Given the description of an element on the screen output the (x, y) to click on. 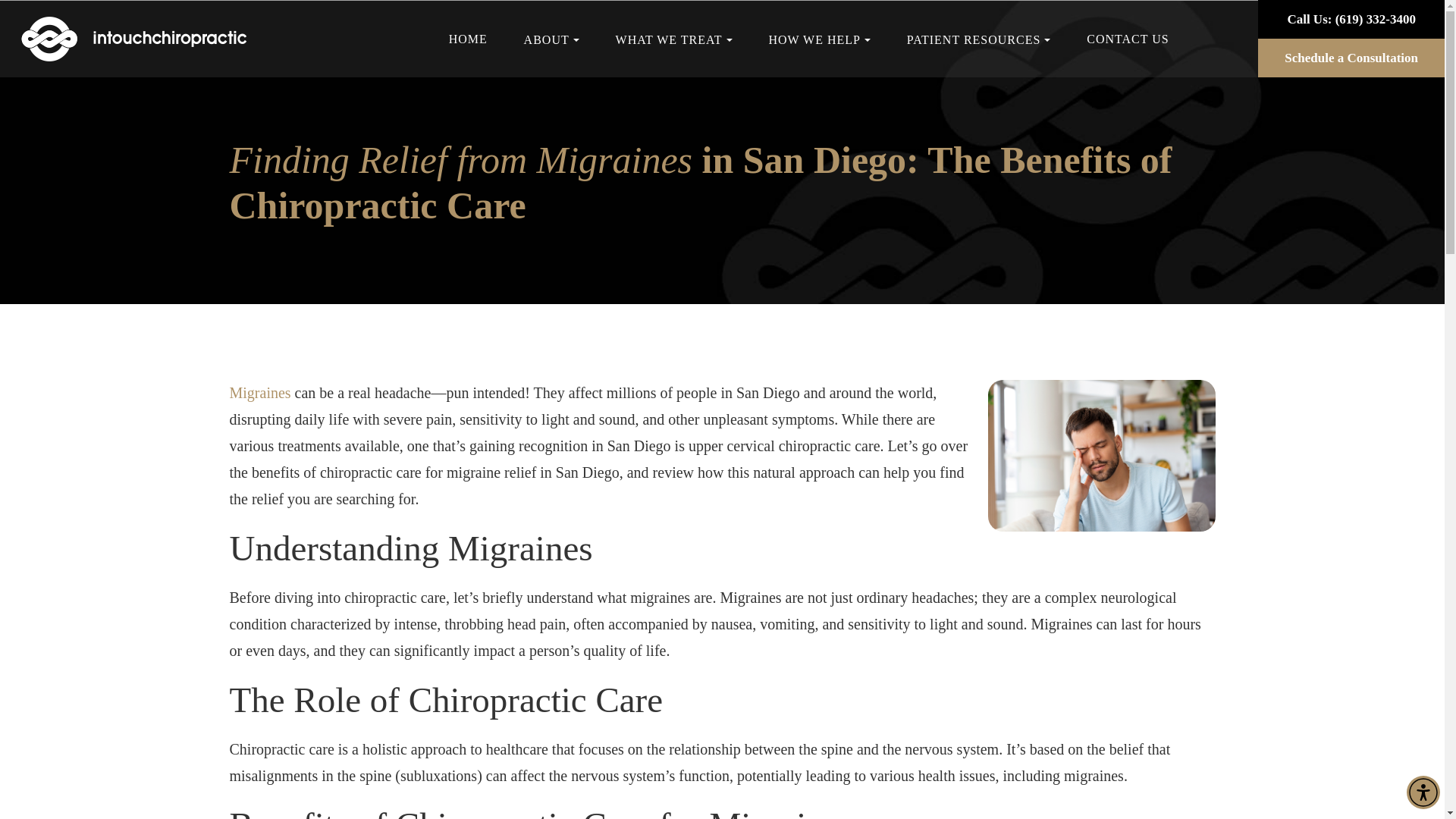
Accessibility Menu (1422, 792)
